Given the description of an element on the screen output the (x, y) to click on. 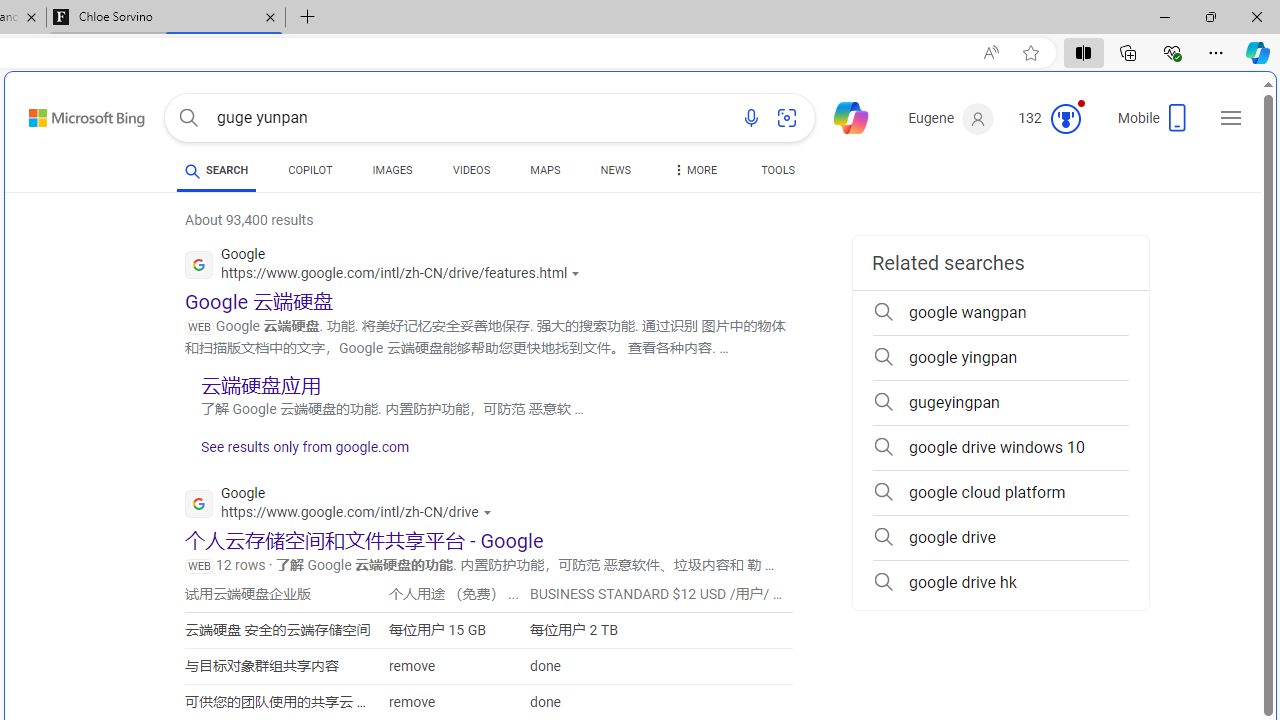
IMAGES (392, 173)
Close tab (270, 16)
NEWS (614, 170)
TOOLS (777, 170)
Chloe Sorvino (166, 17)
Search using voice (751, 117)
MAPS (545, 170)
Collections (1128, 52)
google yingpan (1000, 358)
google drive (1000, 538)
MAPS (545, 173)
Mobile (1154, 124)
Class: medal-svg-animation (1065, 118)
